Given the description of an element on the screen output the (x, y) to click on. 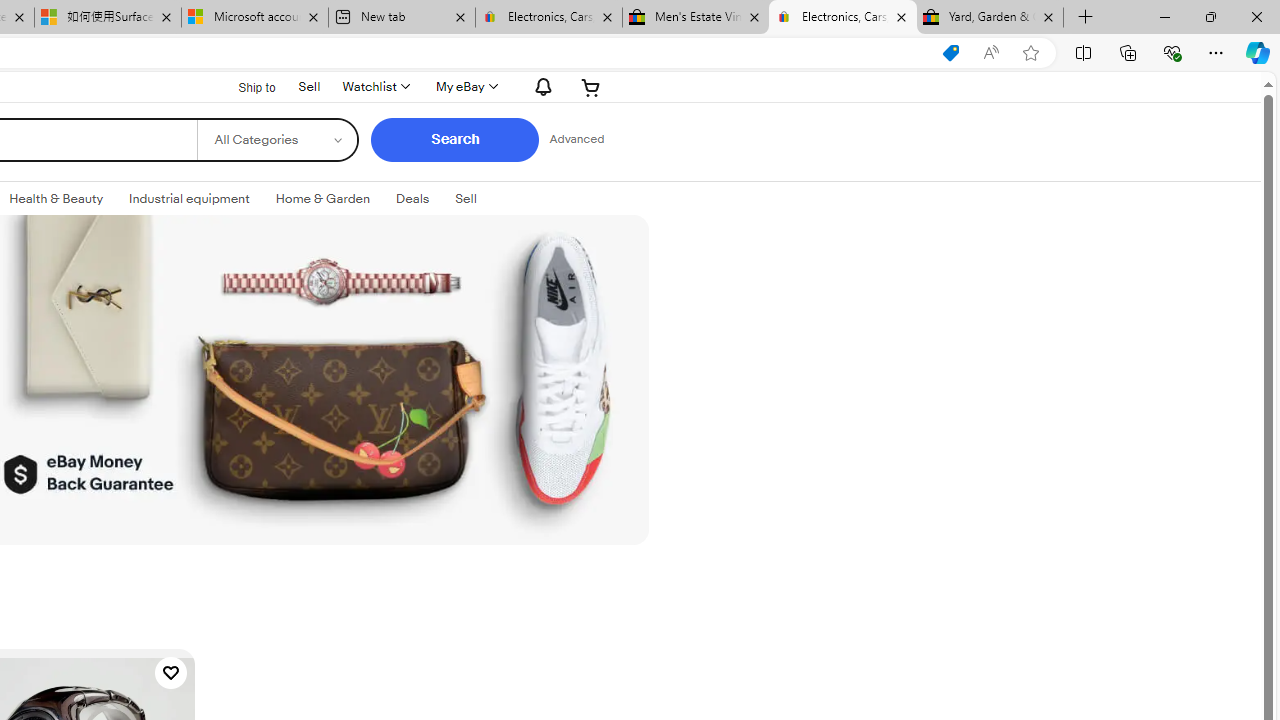
Expand Cart (591, 86)
WatchlistExpand Watch List (374, 86)
Select a category for search (277, 139)
Your shopping cart (591, 86)
Home & Garden (323, 198)
Notifications (538, 86)
Ship to (244, 85)
SellExpand: Sell (465, 199)
Sell (308, 84)
